Given the description of an element on the screen output the (x, y) to click on. 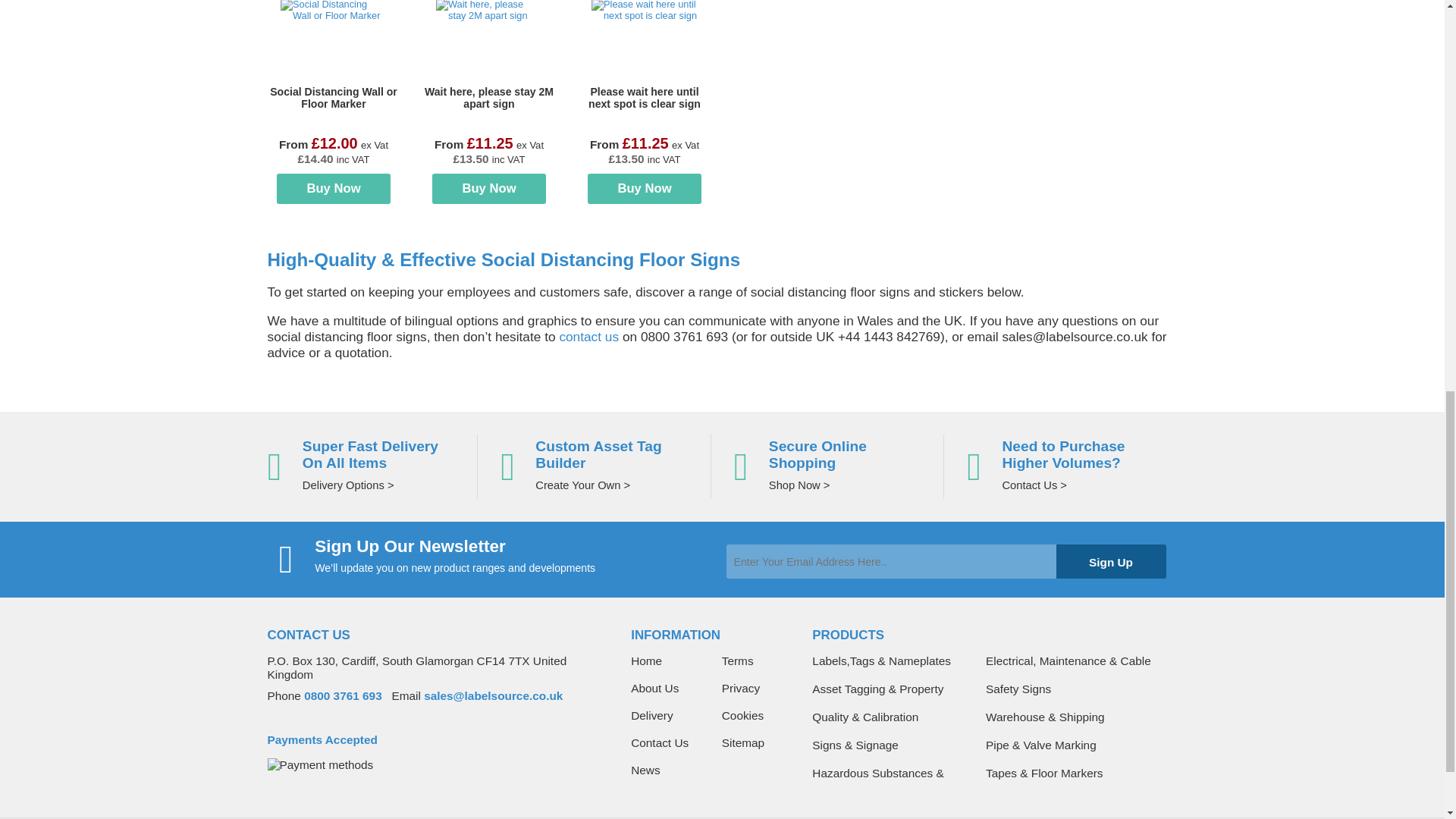
Sign Up (1110, 561)
